Given the description of an element on the screen output the (x, y) to click on. 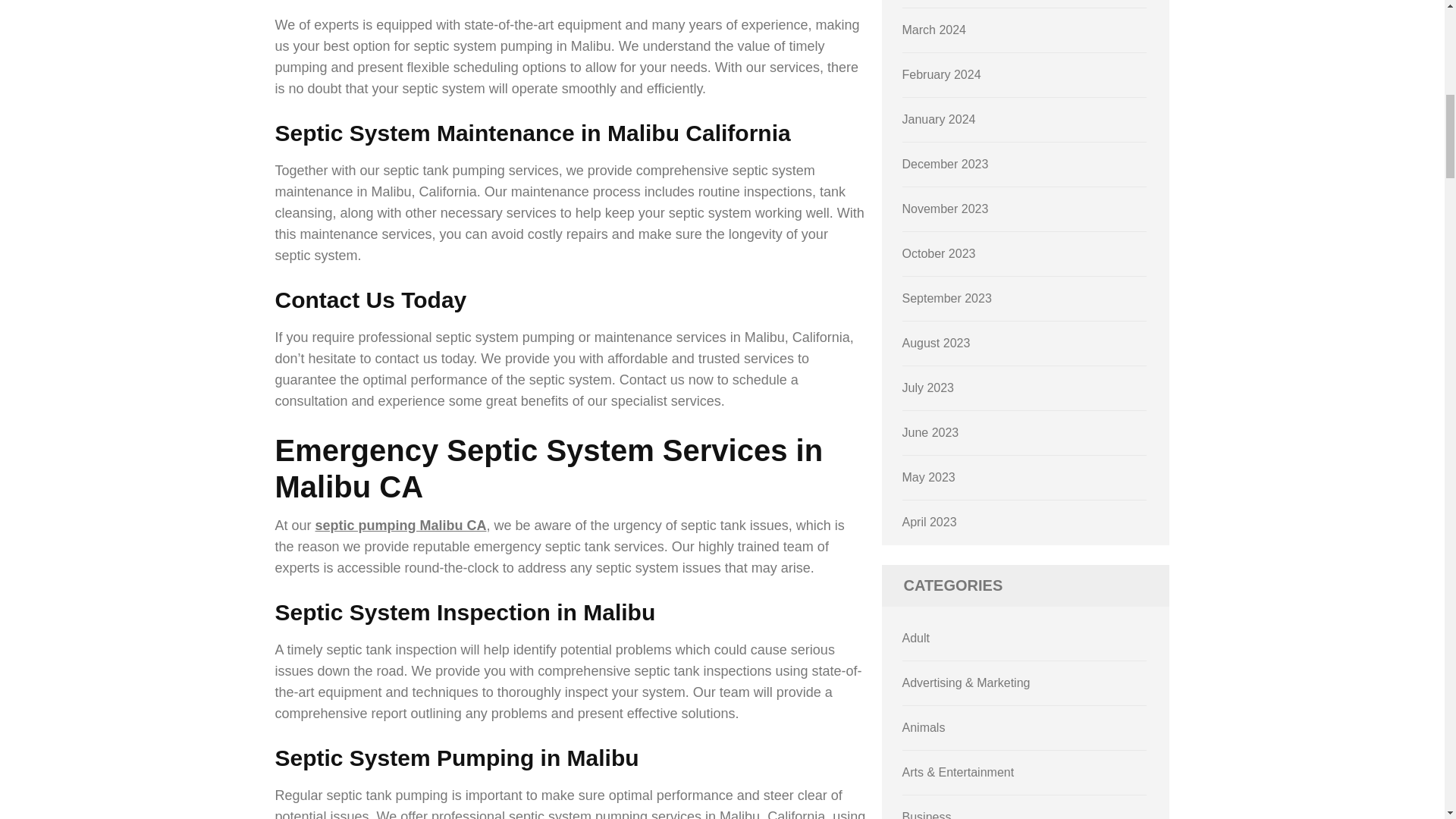
December 2023 (945, 164)
September 2023 (946, 297)
septic pumping Malibu CA (400, 525)
Adult (916, 637)
January 2024 (938, 119)
November 2023 (945, 208)
August 2023 (936, 342)
April 2023 (929, 521)
February 2024 (941, 74)
June 2023 (930, 431)
Animals (923, 727)
March 2024 (934, 29)
July 2023 (928, 387)
May 2023 (928, 477)
October 2023 (938, 253)
